Given the description of an element on the screen output the (x, y) to click on. 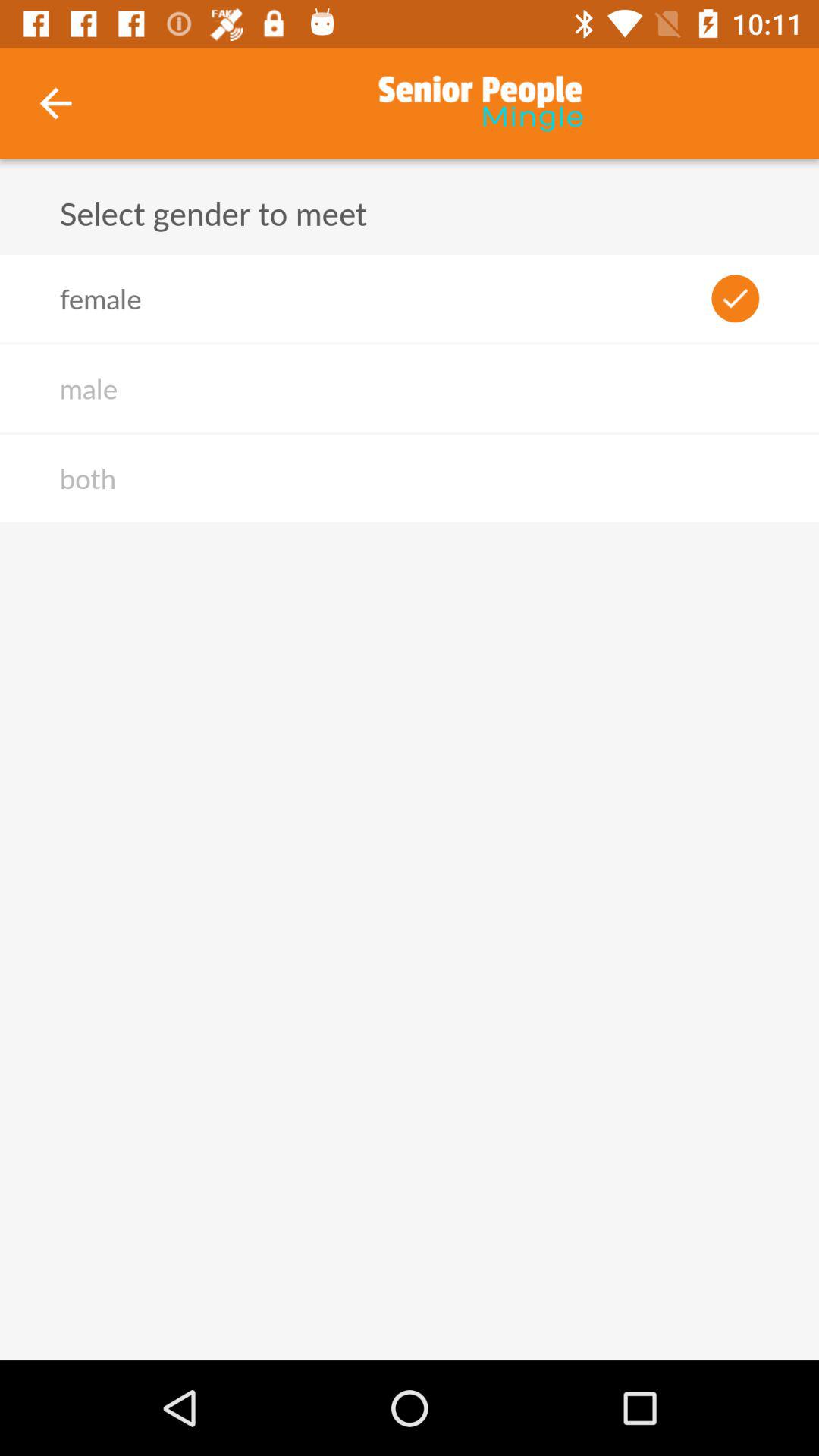
launch item above both icon (88, 388)
